Given the description of an element on the screen output the (x, y) to click on. 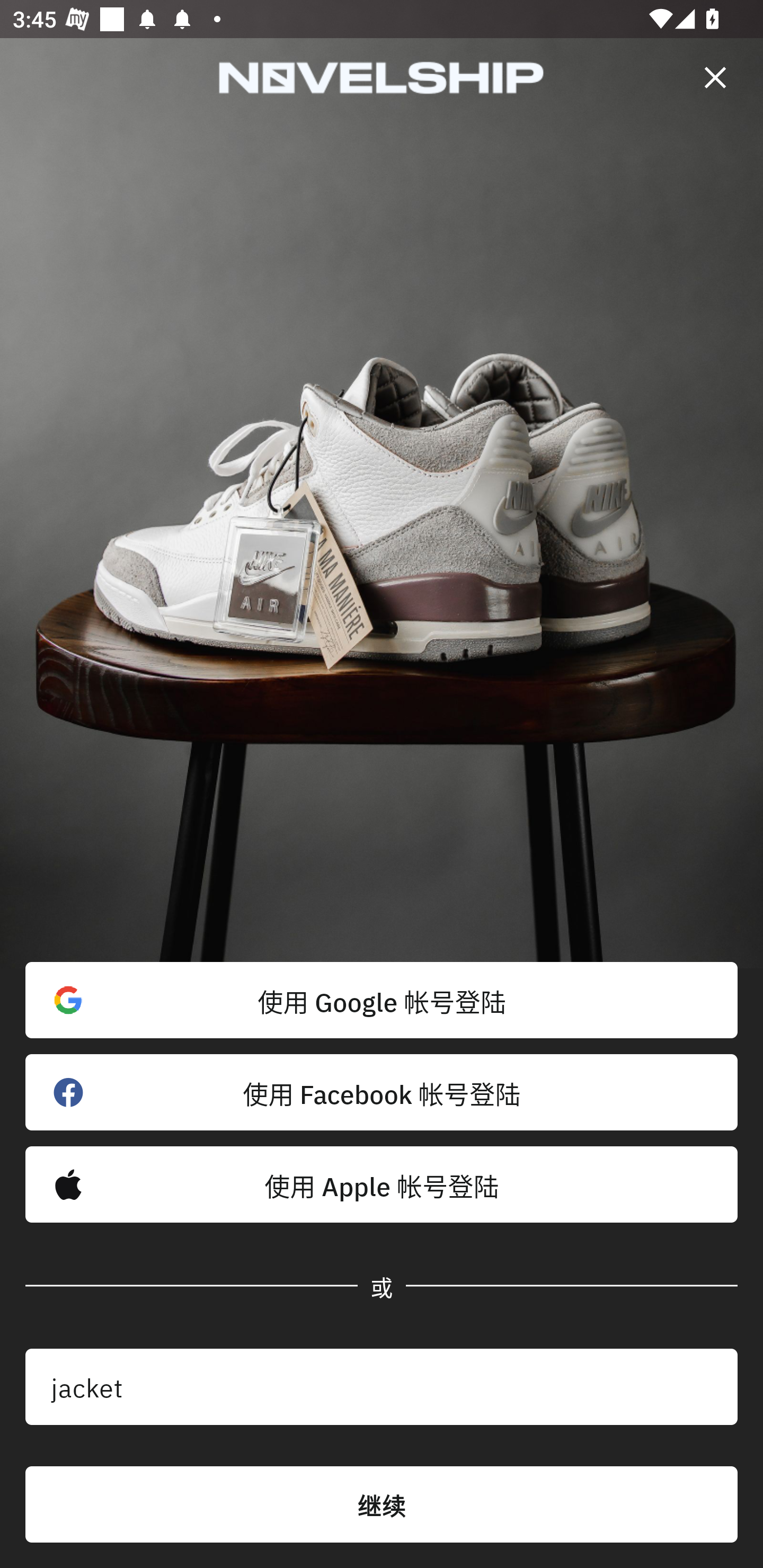
使用 Google 帐号登陆 (381, 1000)
使用 Facebook 帐号登陆 󰈌 (381, 1091)
 使用 Apple 帐号登陆 (381, 1184)
jacket (381, 1386)
继续 (381, 1504)
